Given the description of an element on the screen output the (x, y) to click on. 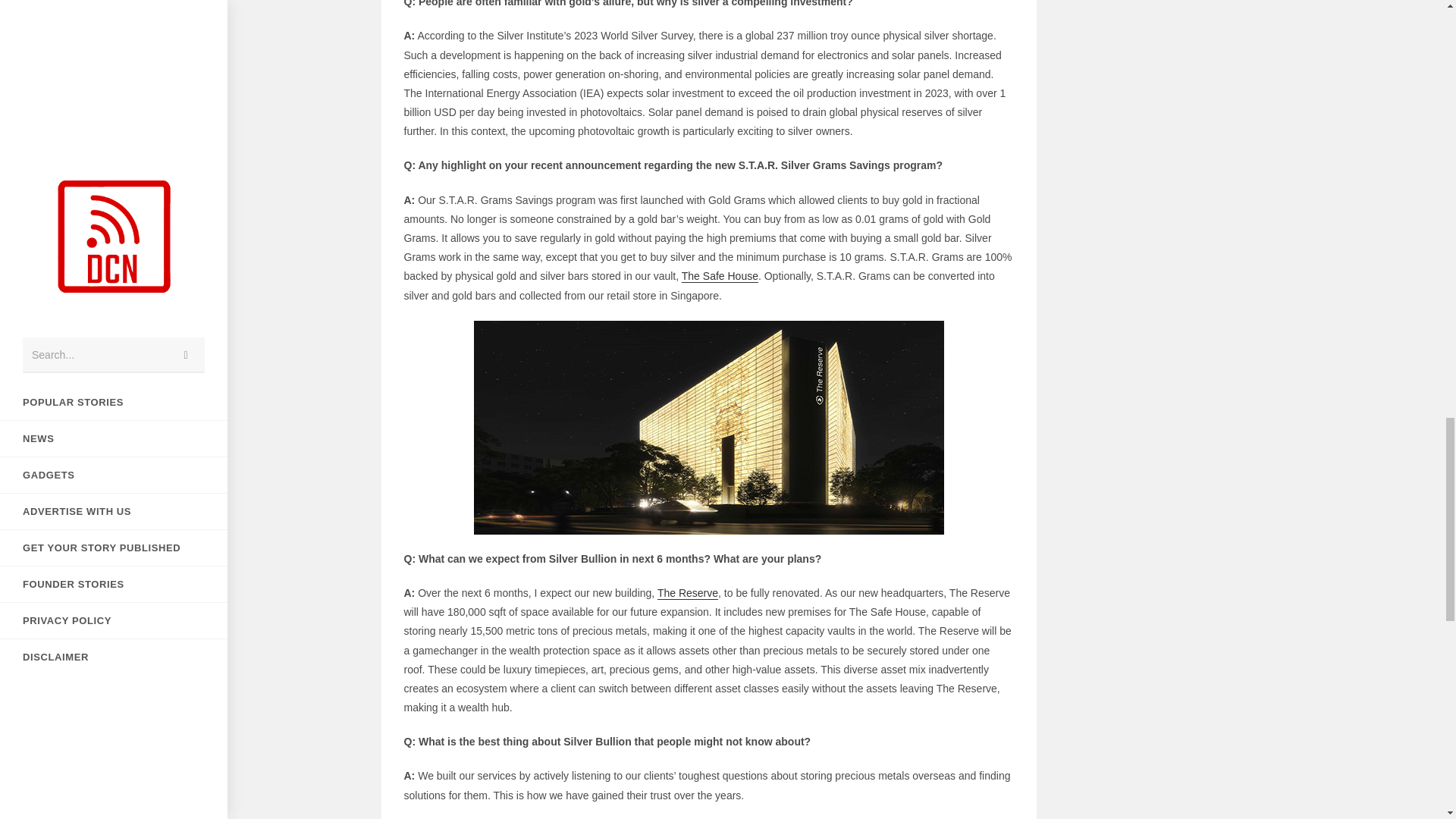
The Safe House (719, 275)
The Reserve (687, 592)
